Given the description of an element on the screen output the (x, y) to click on. 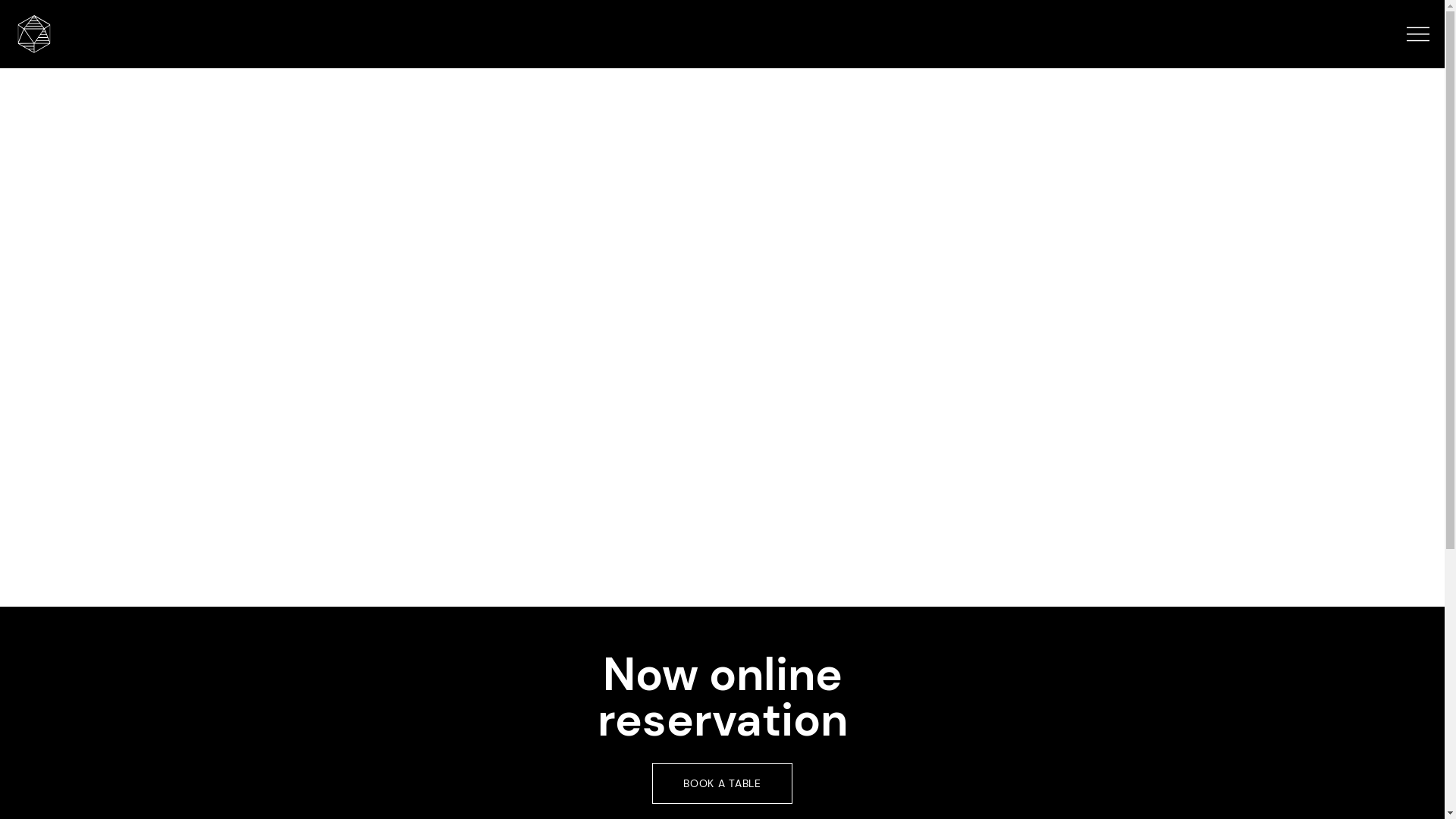
Alchemist Element type: hover (34, 34)
BOOK A TABLE Element type: text (721, 783)
